Given the description of an element on the screen output the (x, y) to click on. 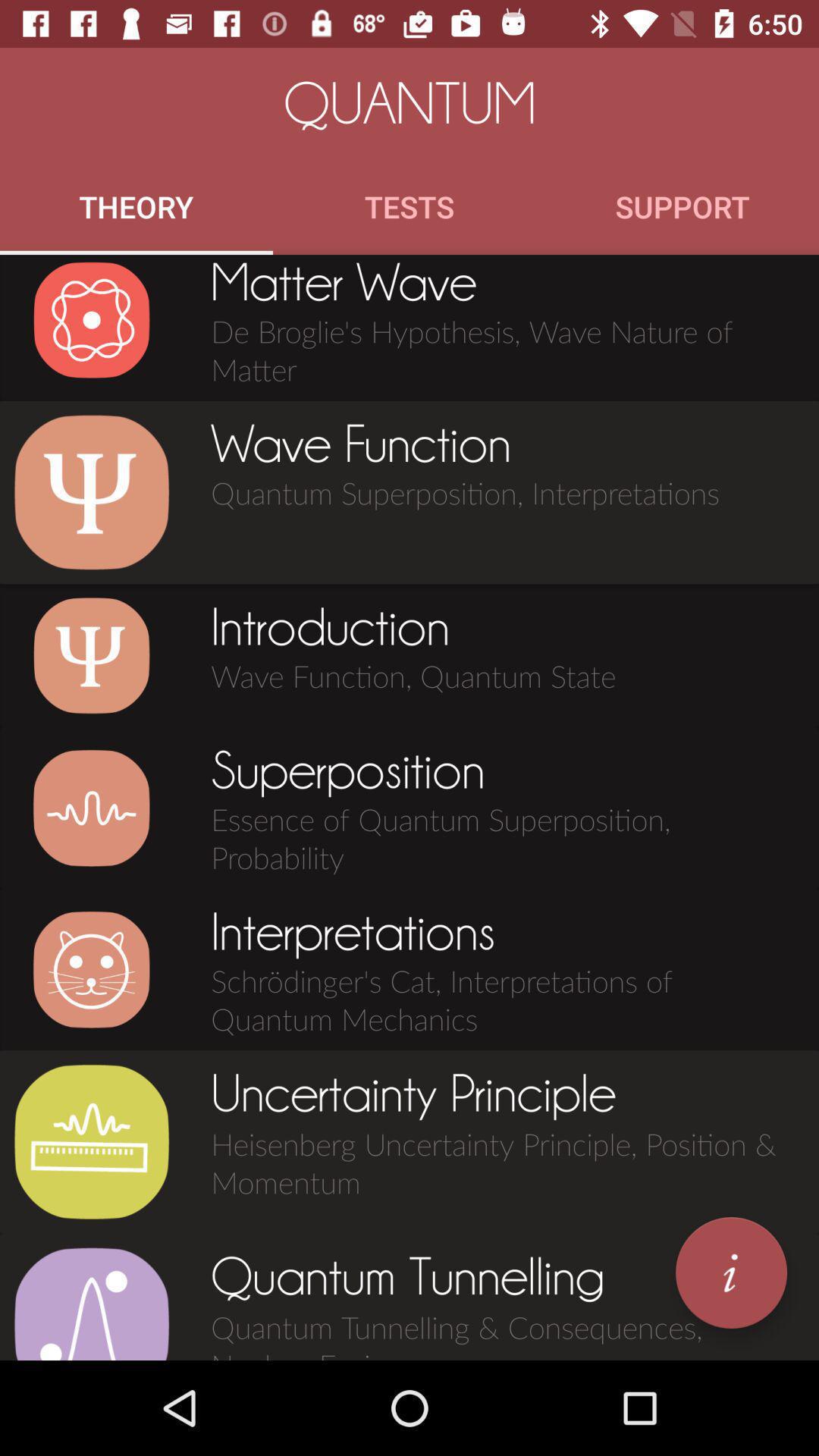
matter wave (91, 319)
